Given the description of an element on the screen output the (x, y) to click on. 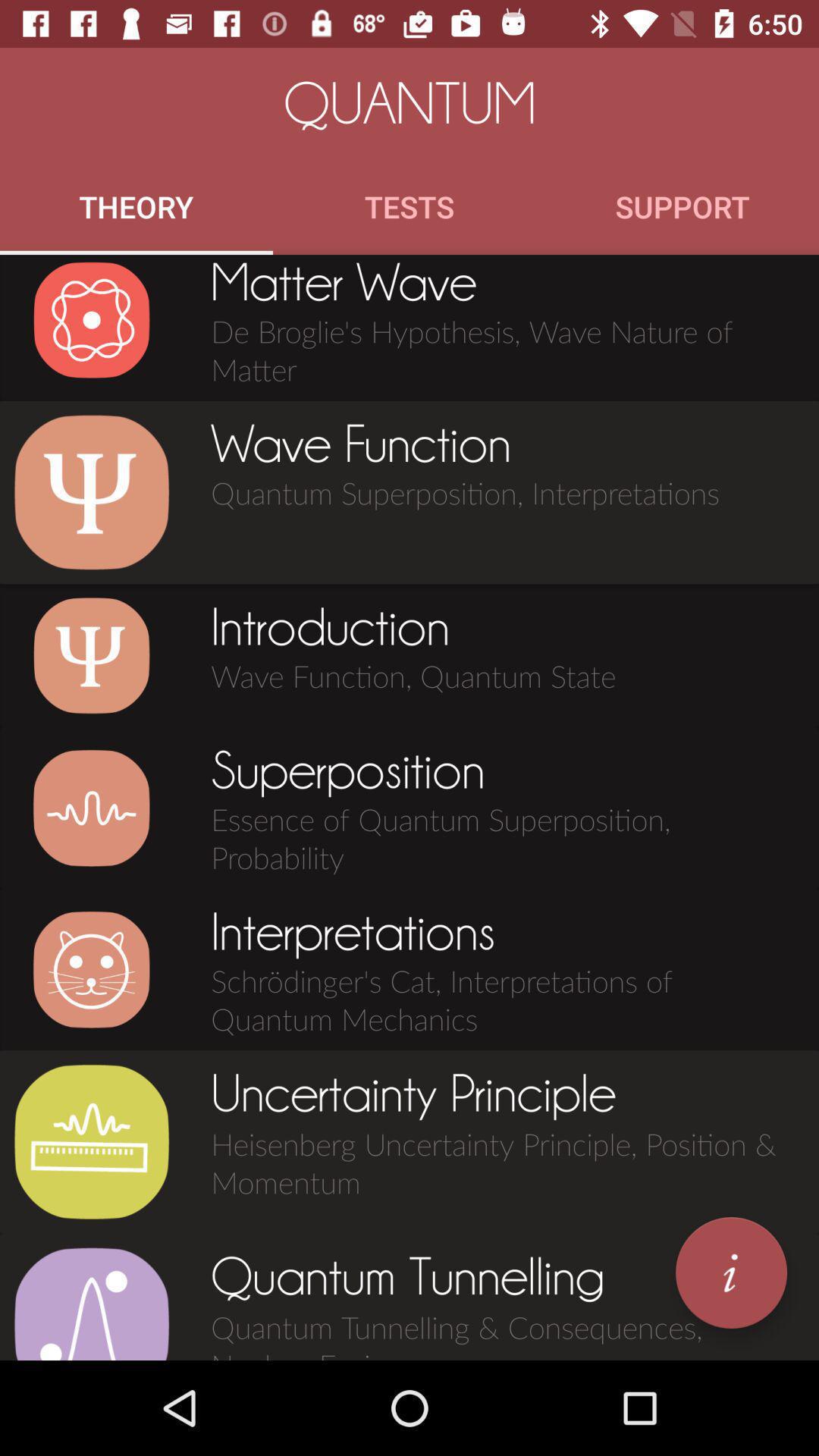
matter wave (91, 319)
